Given the description of an element on the screen output the (x, y) to click on. 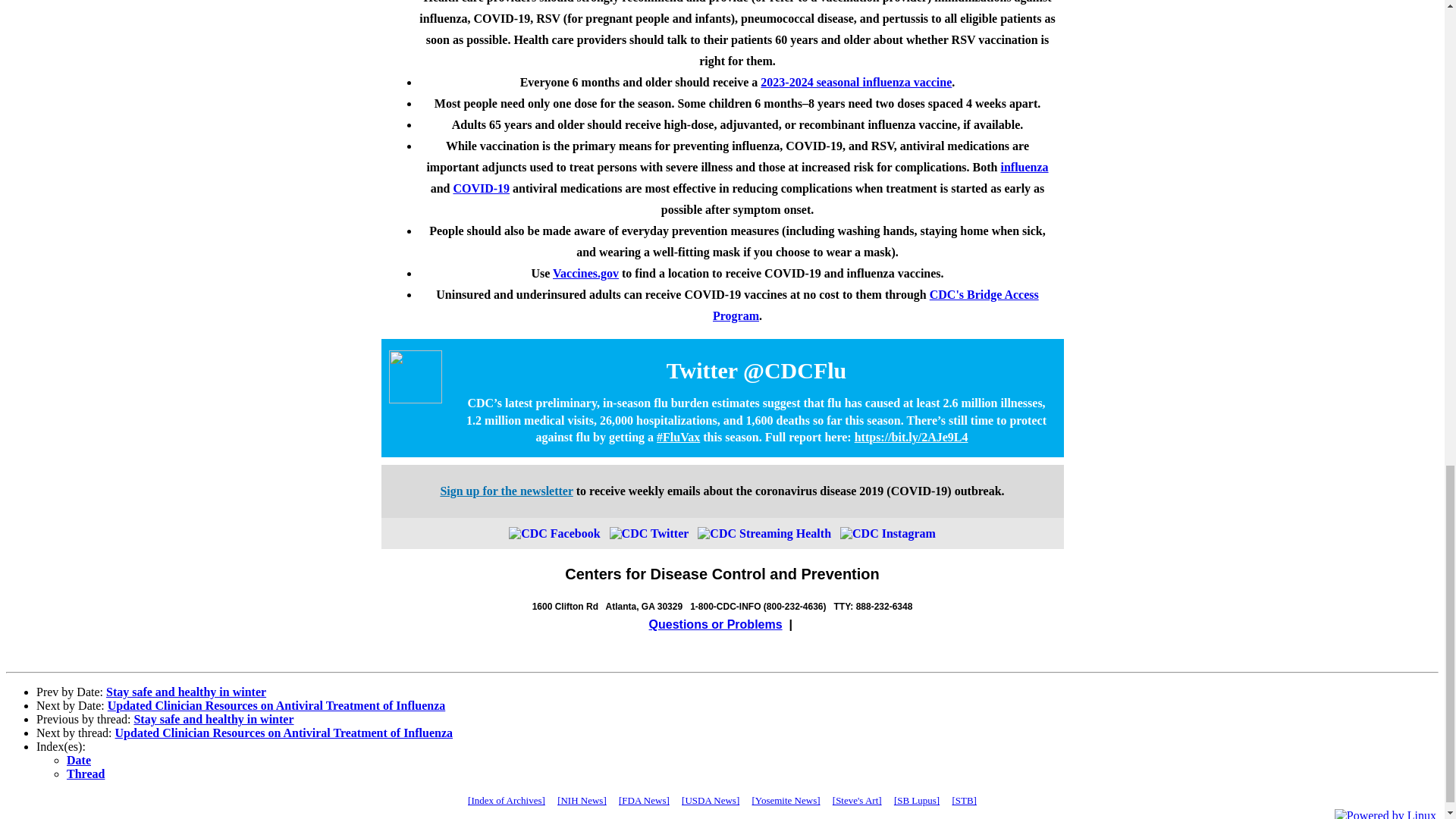
Sign up for the newsletter (505, 490)
influenza (1024, 166)
Questions or Problems (716, 624)
Date (78, 759)
COVID-19 (480, 187)
Stay safe and healthy in winter (186, 691)
Vaccines.gov (585, 273)
2023-2024 seasonal influenza vaccine (856, 82)
CDC's Bridge Access Program (876, 305)
Stay safe and healthy in winter (213, 718)
